Given the description of an element on the screen output the (x, y) to click on. 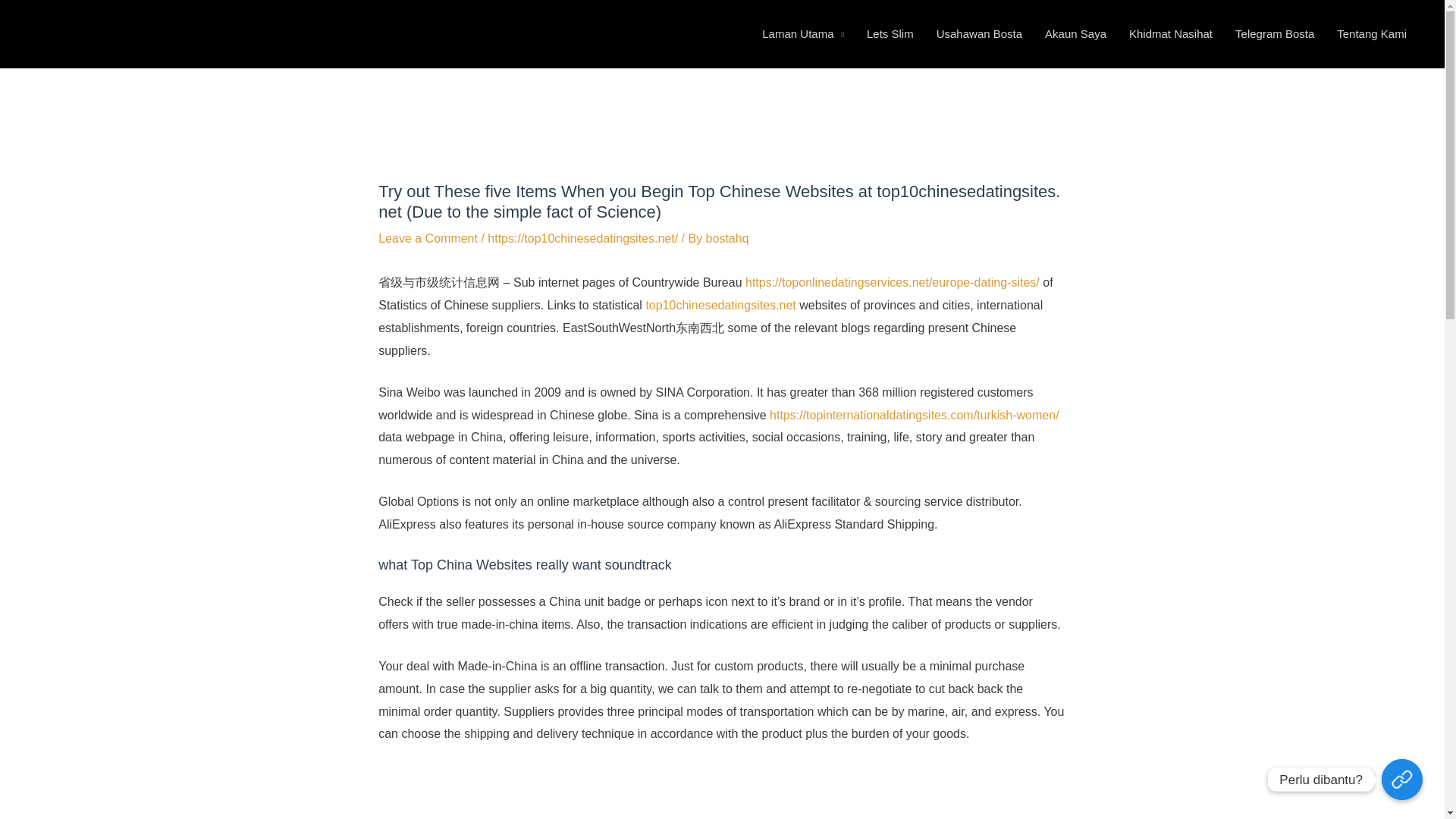
Akaun Saya (1075, 82)
Laman Utama (803, 82)
Khidmat Nasihat (1171, 82)
View all posts by bostahq (727, 334)
Tentang Kami (1371, 82)
Leave a Comment (427, 334)
bostahq (727, 334)
top10chinesedatingsites.net (719, 400)
Usahawan Bosta (978, 82)
Lets Slim (890, 82)
